Given the description of an element on the screen output the (x, y) to click on. 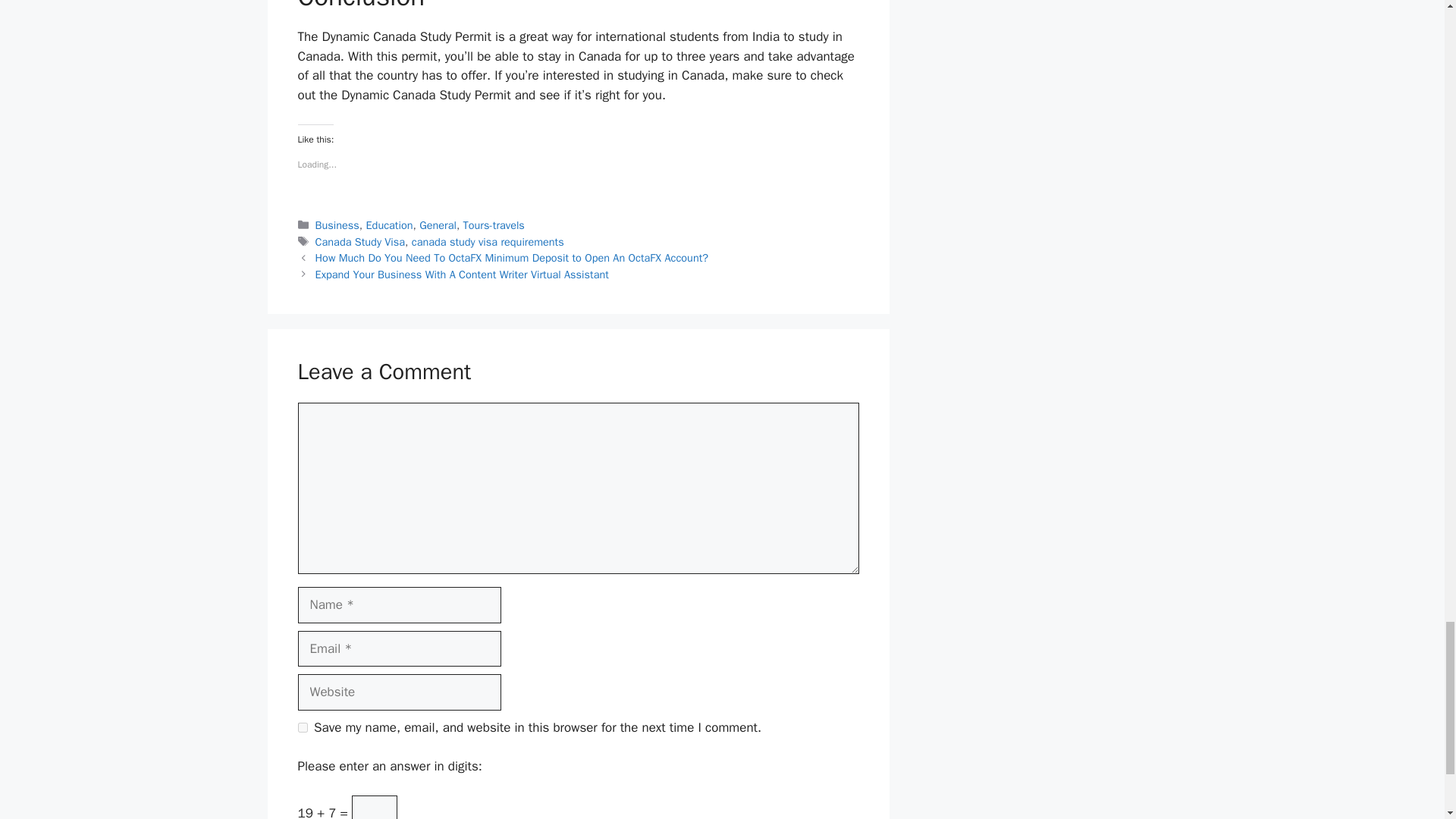
Business (337, 224)
Canada Study Visa (360, 241)
yes (302, 727)
General (438, 224)
Education (389, 224)
Tours-travels (493, 224)
